Given the description of an element on the screen output the (x, y) to click on. 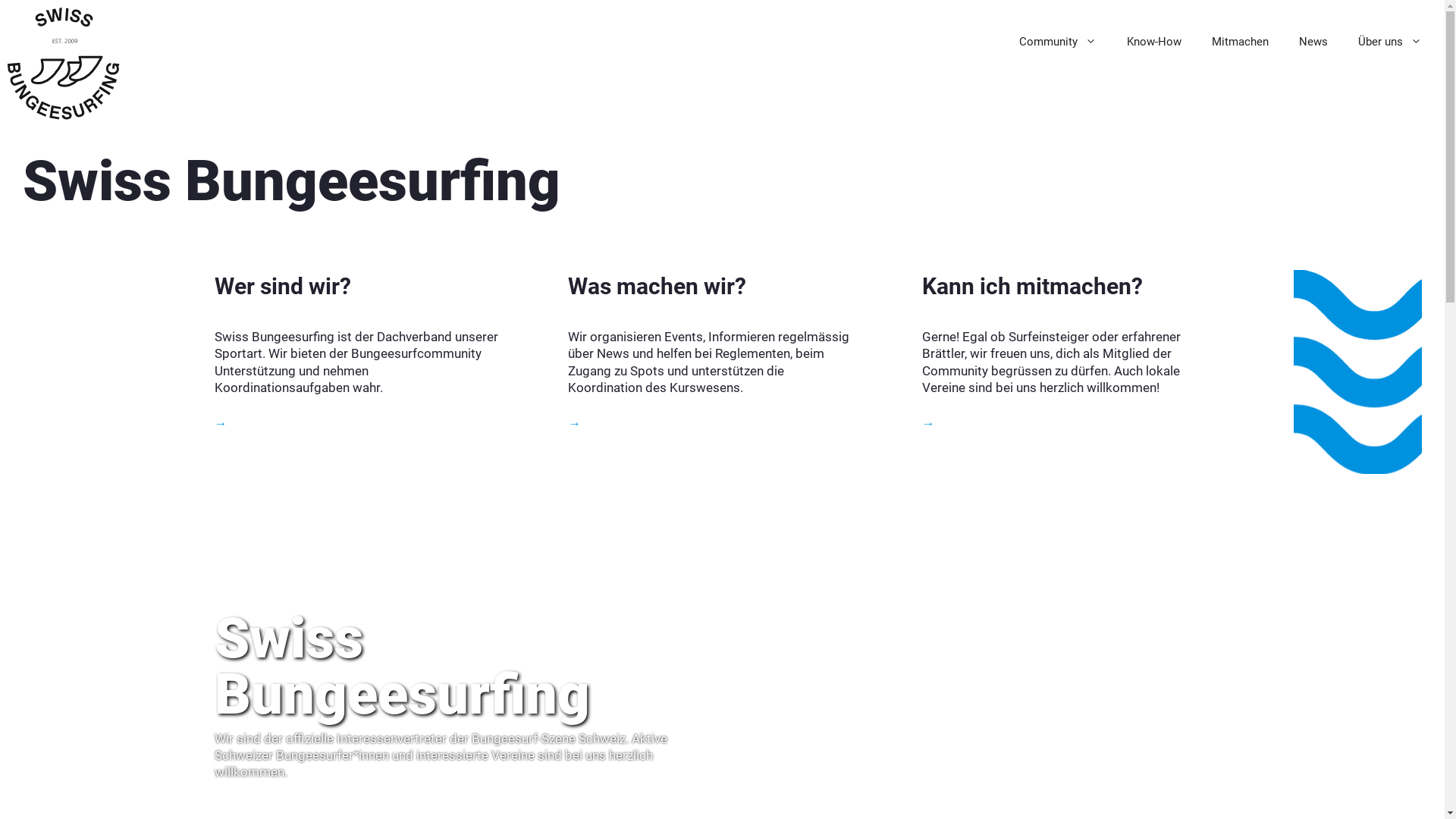
News Element type: text (1313, 41)
Know-How Element type: text (1153, 41)
Mitmachen Element type: text (1239, 41)
Community Element type: text (1057, 41)
